Given the description of an element on the screen output the (x, y) to click on. 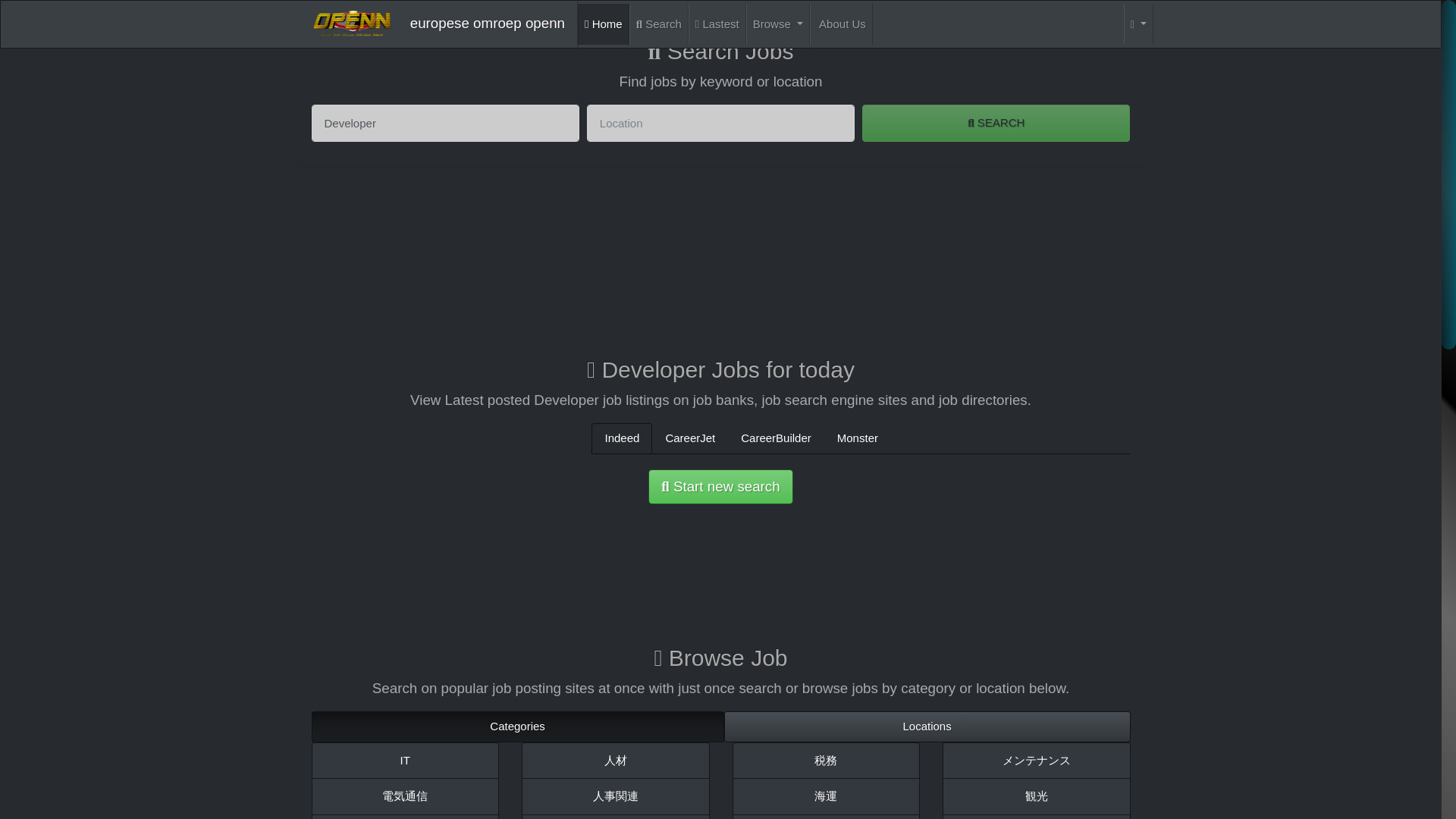
About Us (840, 24)
Home (603, 24)
Lastest (716, 24)
CareerJet (690, 438)
Indeed (621, 438)
Monster (857, 438)
europese omroep openn (433, 23)
Developer (444, 122)
Browse (777, 24)
Search (658, 24)
CareerBuilder (776, 438)
Language  (1138, 24)
